Given the description of an element on the screen output the (x, y) to click on. 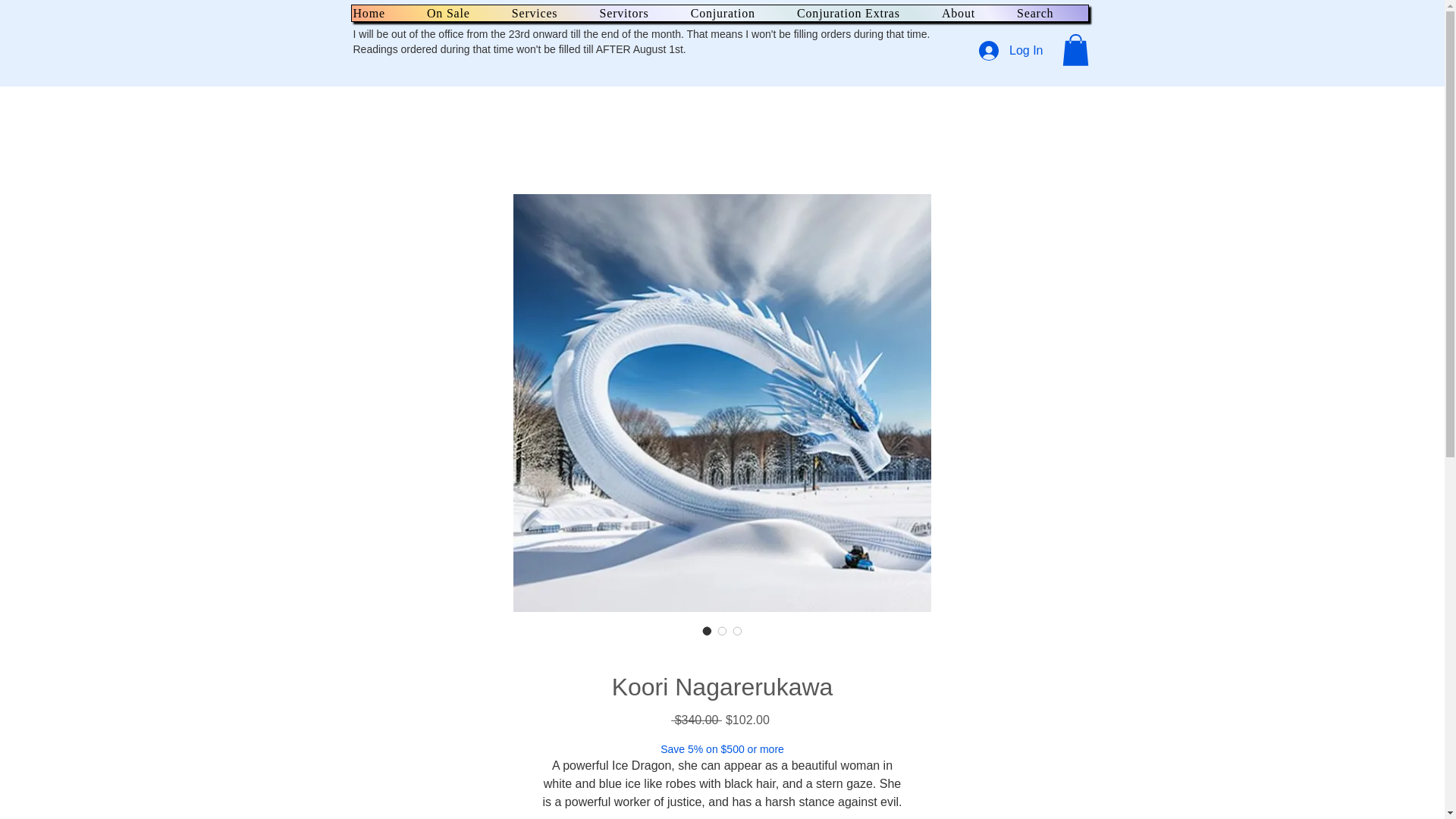
Log In (1010, 50)
Home (385, 12)
Search (1050, 12)
